Given the description of an element on the screen output the (x, y) to click on. 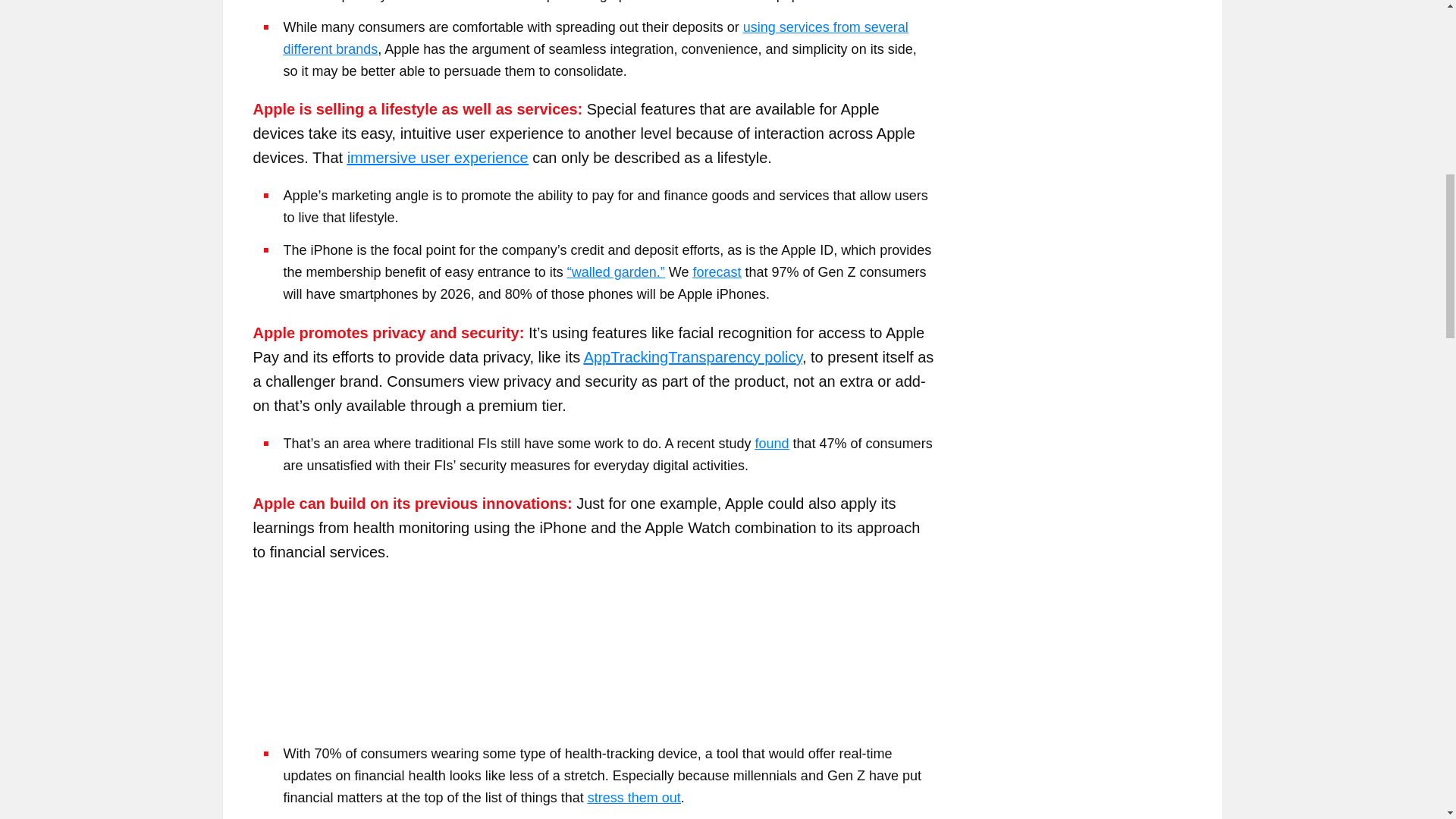
using services from several different brands (595, 37)
forecast (717, 272)
AppTrackingTransparency policy (692, 356)
found (771, 443)
immersive user experience (437, 157)
stress them out (634, 797)
